Given the description of an element on the screen output the (x, y) to click on. 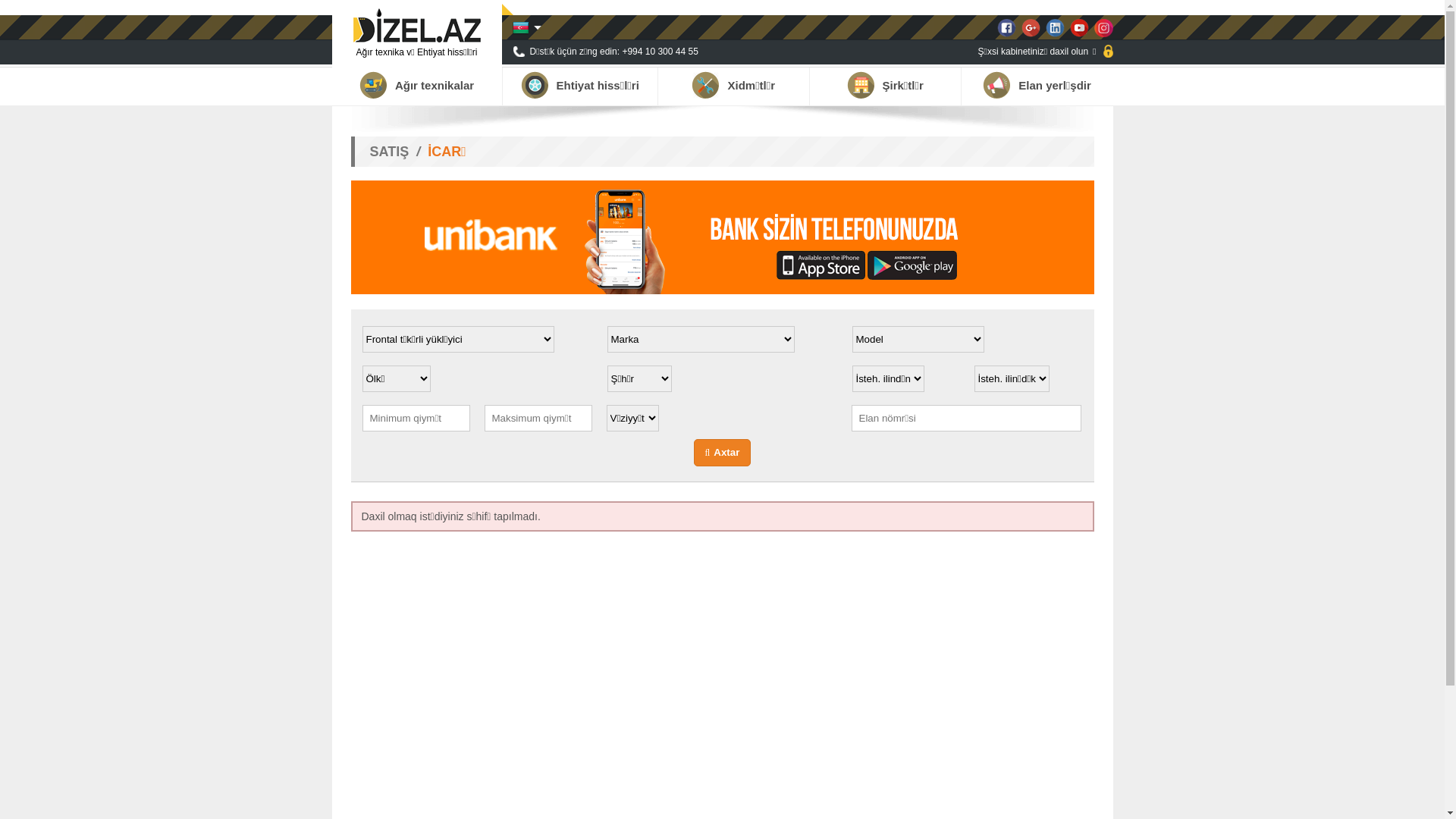
Axtar Element type: text (722, 452)
